Given the description of an element on the screen output the (x, y) to click on. 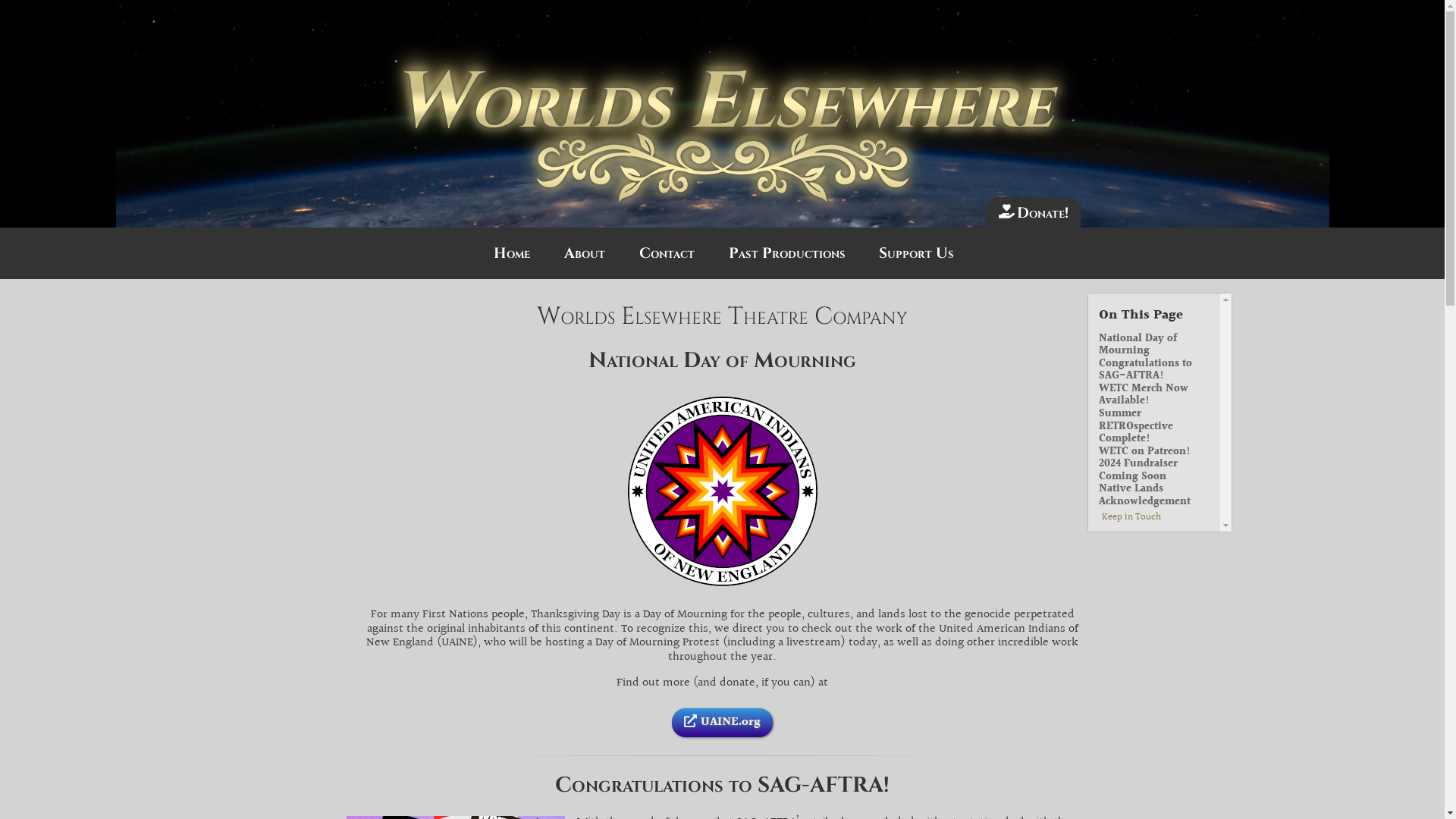
2024 Fundraiser Coming Soon Element type: text (1153, 470)
UAINE.org Element type: text (721, 722)
WETC Merch Now Available! Element type: text (1153, 394)
Donate! Element type: text (1033, 212)
Contact Element type: text (666, 252)
Support Us Element type: text (916, 252)
Native Lands Acknowledgement Element type: text (1153, 495)
National Day of Mourning Element type: text (1153, 344)
Past Productions Element type: text (786, 252)
Keep in Touch Element type: text (1131, 517)
Summer RETROspective Complete! Element type: text (1153, 426)
Congratulations to SAG-AFTRA! Element type: text (1153, 369)
WETC on Patreon! Element type: text (1144, 451)
Home Element type: text (511, 252)
About Element type: text (584, 252)
